Given the description of an element on the screen output the (x, y) to click on. 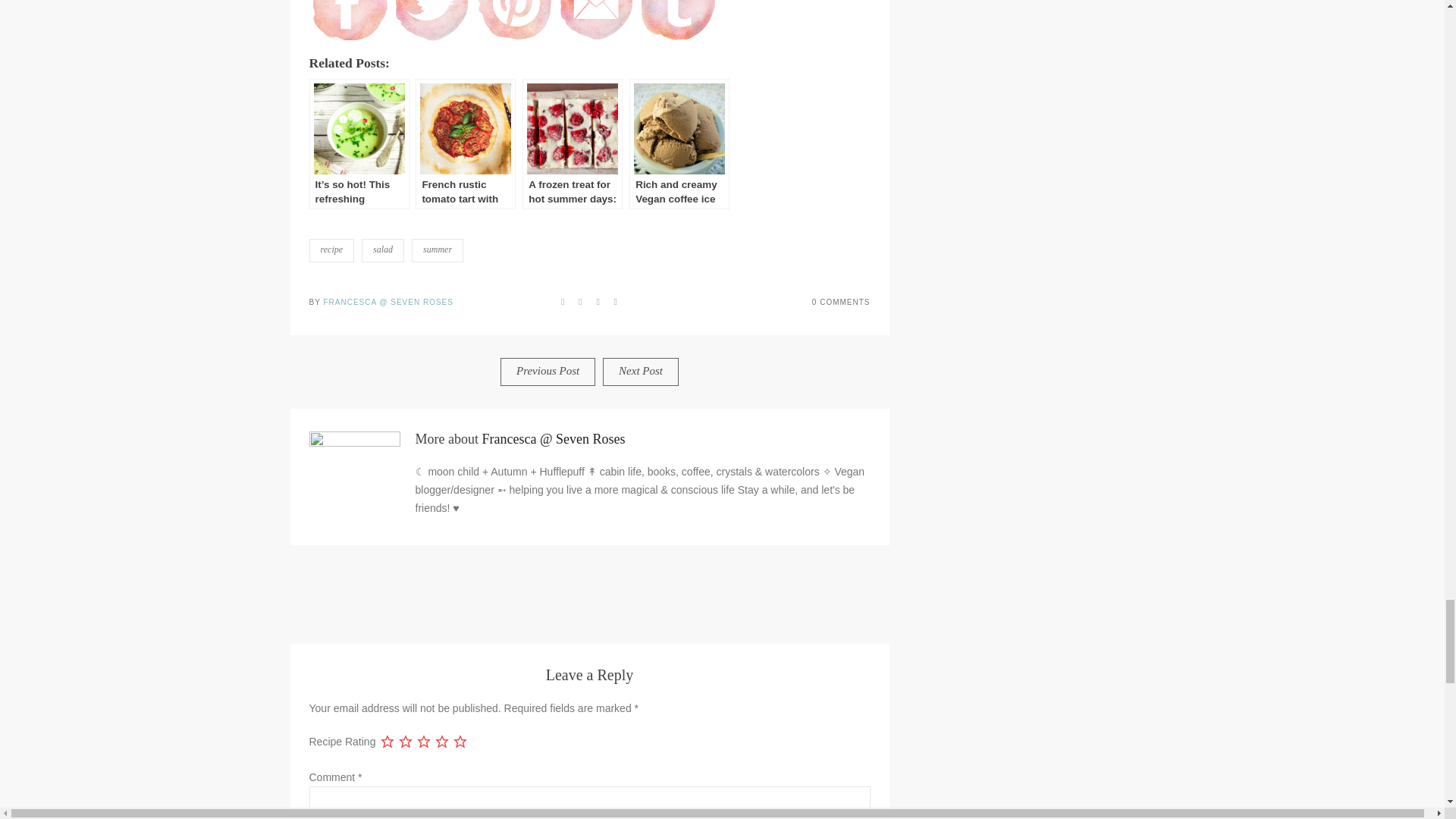
Facebook (349, 21)
Twitter (432, 21)
Pinterest (513, 21)
Tumblr (678, 21)
Email (595, 21)
